Given the description of an element on the screen output the (x, y) to click on. 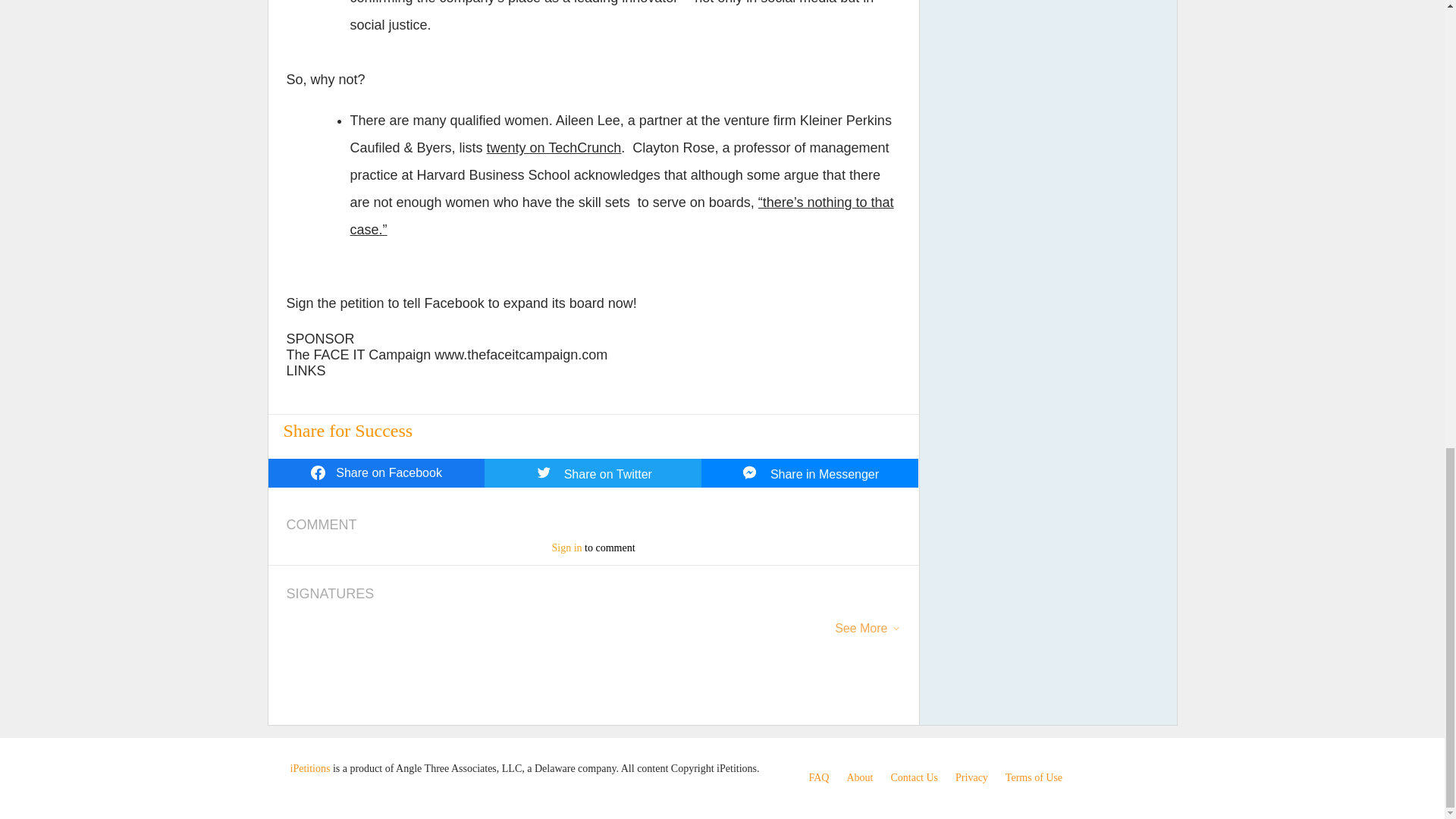
iPetitions (309, 767)
FAQ (818, 777)
About (858, 777)
twenty on TechCrunch (553, 147)
Share on Facebook (375, 472)
See More (859, 634)
Share in Messenger (809, 472)
Frequently Asked Question (818, 777)
Share on Twitter (592, 472)
Sign in (565, 547)
